Given the description of an element on the screen output the (x, y) to click on. 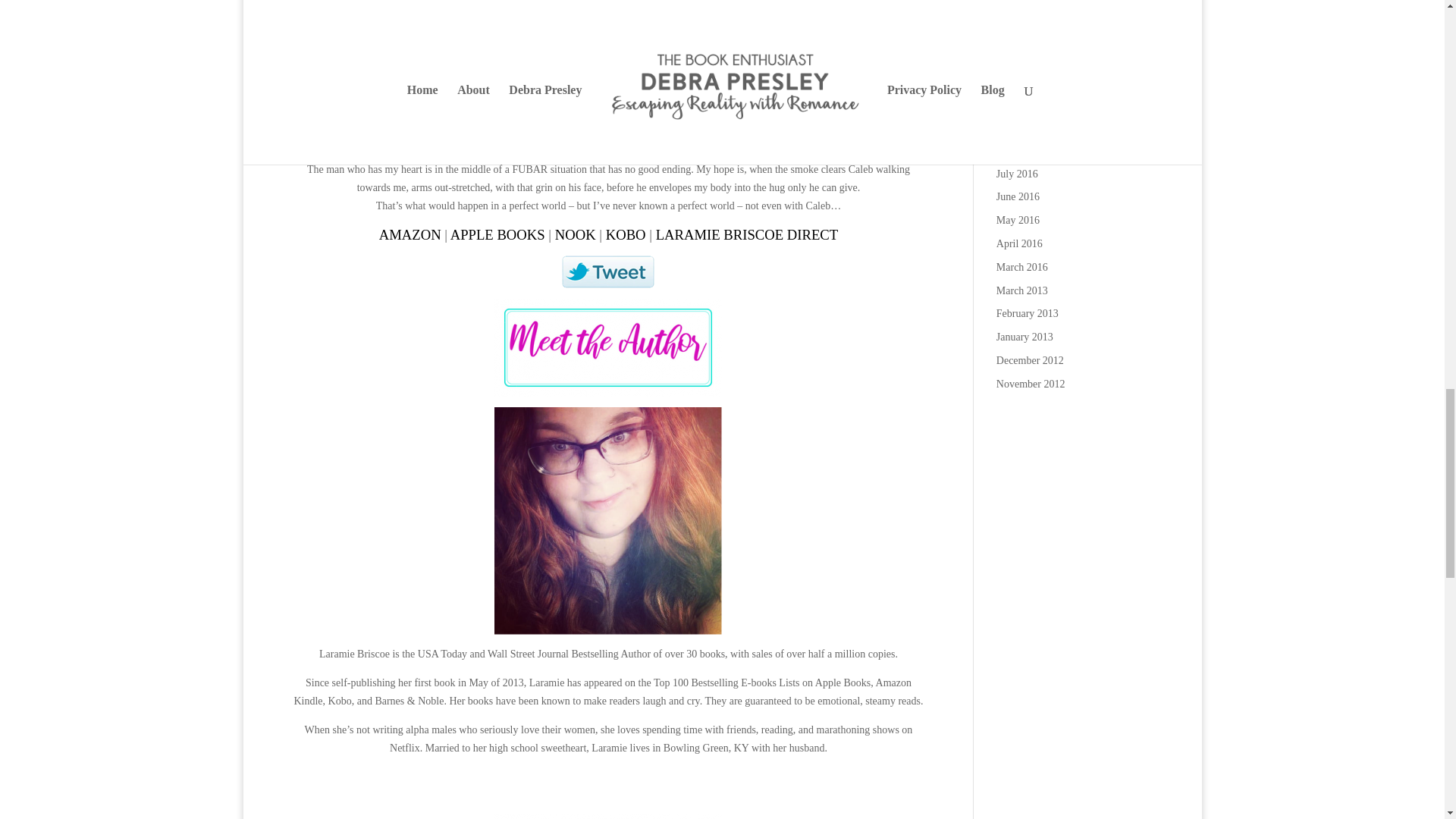
LARAMIE BRISCOE DIRECT (747, 234)
KOBO (625, 234)
APPLE BOOKS (496, 234)
AMAZON (409, 234)
NOOK (574, 234)
